Given the description of an element on the screen output the (x, y) to click on. 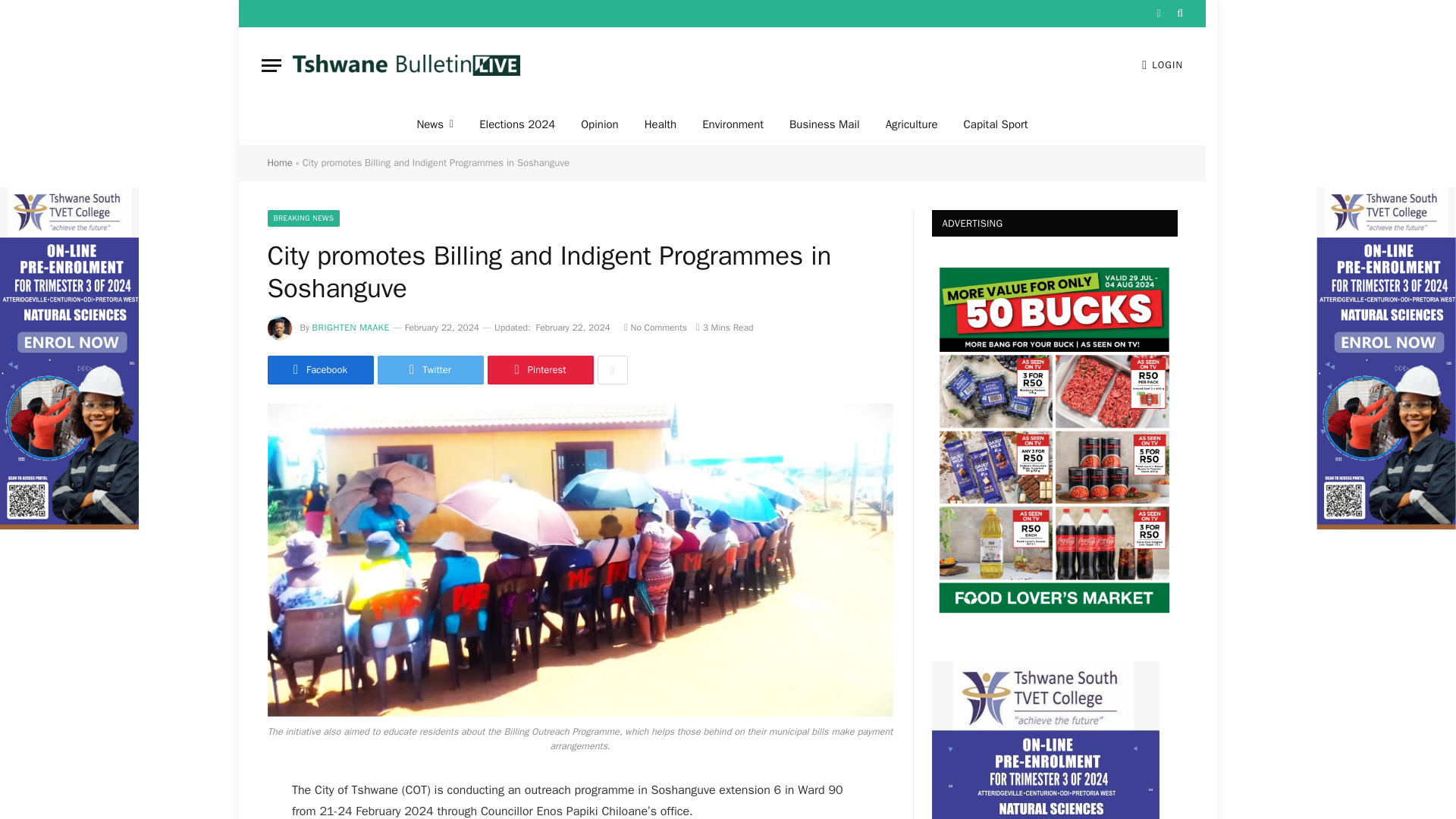
Tshwane Bulletin (405, 64)
Switch to Dark Design - easier on eyes. (1158, 13)
Capital Sport (995, 123)
Show More Social Sharing (611, 369)
Agriculture (911, 123)
No Comments (655, 327)
Health (660, 123)
Share on Facebook (319, 369)
Elections 2024 (516, 123)
Facebook (319, 369)
Share on Pinterest (539, 369)
BRIGHTEN MAAKE (351, 327)
Share on Twitter (430, 369)
News (434, 123)
